Given the description of an element on the screen output the (x, y) to click on. 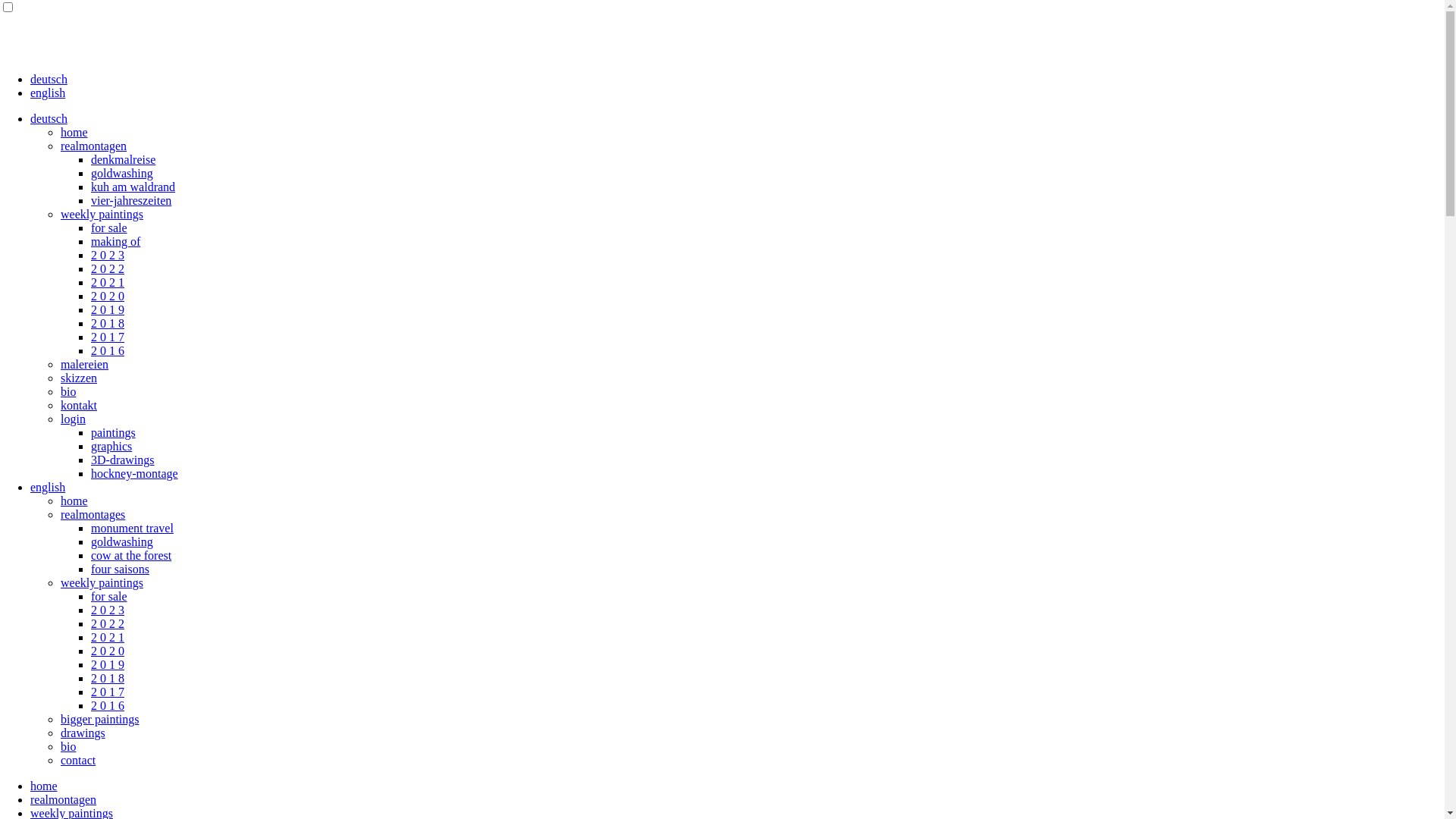
goldwashing Element type: text (122, 172)
kuh am waldrand Element type: text (133, 186)
for sale Element type: text (109, 595)
contact Element type: text (77, 759)
malereien Element type: text (84, 363)
hockney-montage Element type: text (134, 473)
2 0 2 2 Element type: text (107, 623)
cow at the forest Element type: text (131, 555)
bio Element type: text (67, 746)
for sale Element type: text (109, 227)
2 0 1 9 Element type: text (107, 664)
2 0 1 8 Element type: text (107, 677)
login Element type: text (72, 418)
2 0 2 3 Element type: text (107, 609)
denkmalreise Element type: text (123, 159)
2 0 1 6 Element type: text (107, 350)
monument travel Element type: text (132, 527)
2 0 1 7 Element type: text (107, 691)
2 0 2 0 Element type: text (107, 295)
english Element type: text (47, 486)
bigger paintings Element type: text (99, 718)
skizzen Element type: text (78, 377)
paintings Element type: text (113, 432)
vier-jahreszeiten Element type: text (131, 200)
2 0 1 7 Element type: text (107, 336)
home Element type: text (73, 500)
weekly paintings Element type: text (101, 213)
deutsch Element type: text (48, 118)
2 0 1 8 Element type: text (107, 322)
graphics Element type: text (111, 445)
weekly paintings Element type: text (101, 582)
realmontagen Element type: text (93, 145)
realmontagen Element type: text (63, 799)
2 0 2 1 Element type: text (107, 282)
drawings Element type: text (82, 732)
goldwashing Element type: text (122, 541)
2 0 2 2 Element type: text (107, 268)
home Element type: text (43, 785)
2 0 2 3 Element type: text (107, 254)
kontakt Element type: text (78, 404)
deutsch Element type: text (48, 78)
english Element type: text (47, 92)
four saisons Element type: text (120, 568)
3D-drawings Element type: text (122, 459)
2 0 1 6 Element type: text (107, 705)
home Element type: text (73, 131)
2 0 1 9 Element type: text (107, 309)
2 0 2 1 Element type: text (107, 636)
2 0 2 0 Element type: text (107, 650)
making of Element type: text (115, 241)
bio Element type: text (67, 391)
realmontages Element type: text (92, 514)
